Given the description of an element on the screen output the (x, y) to click on. 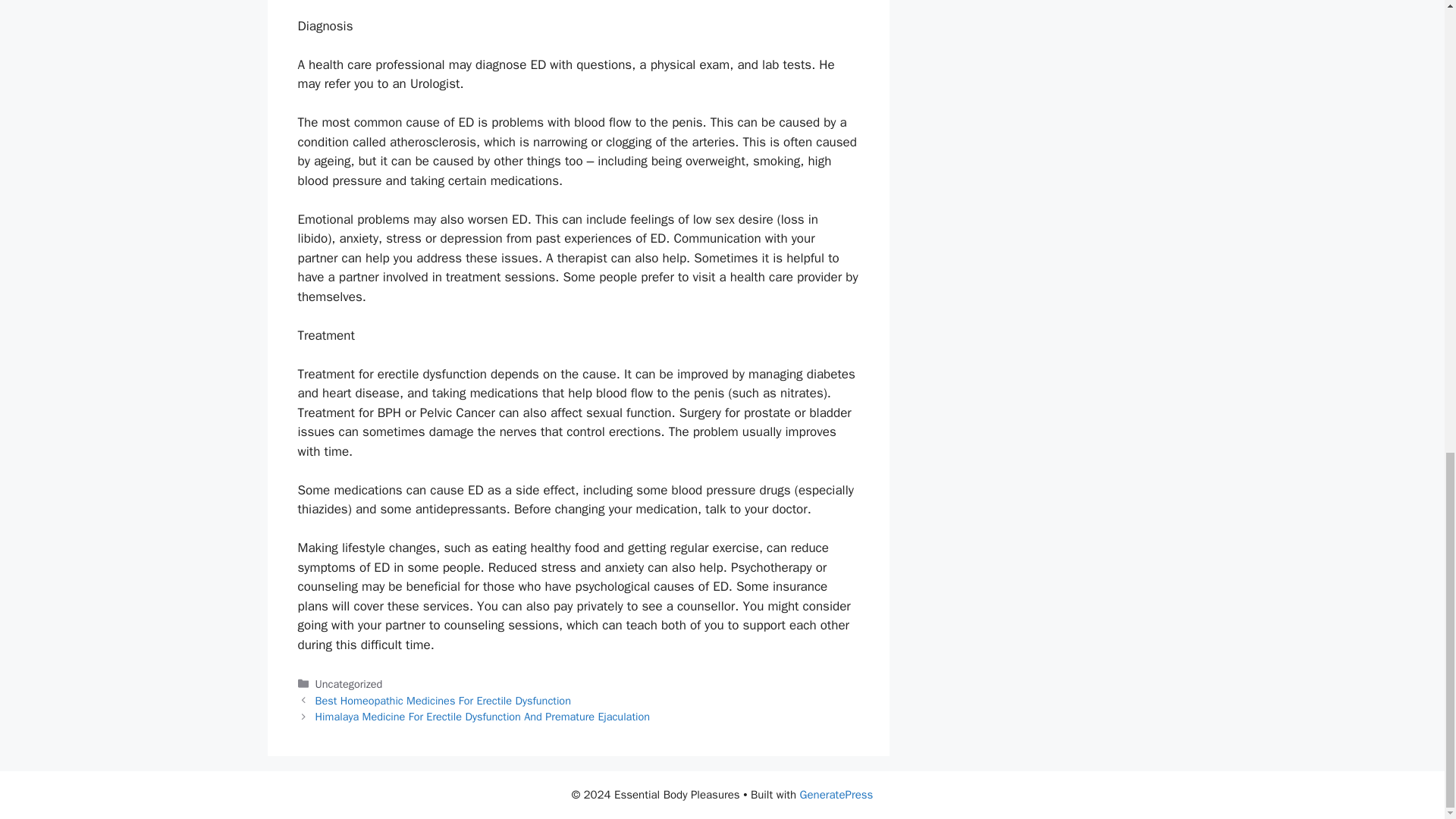
GeneratePress (836, 794)
Best Homeopathic Medicines For Erectile Dysfunction (442, 700)
